Given the description of an element on the screen output the (x, y) to click on. 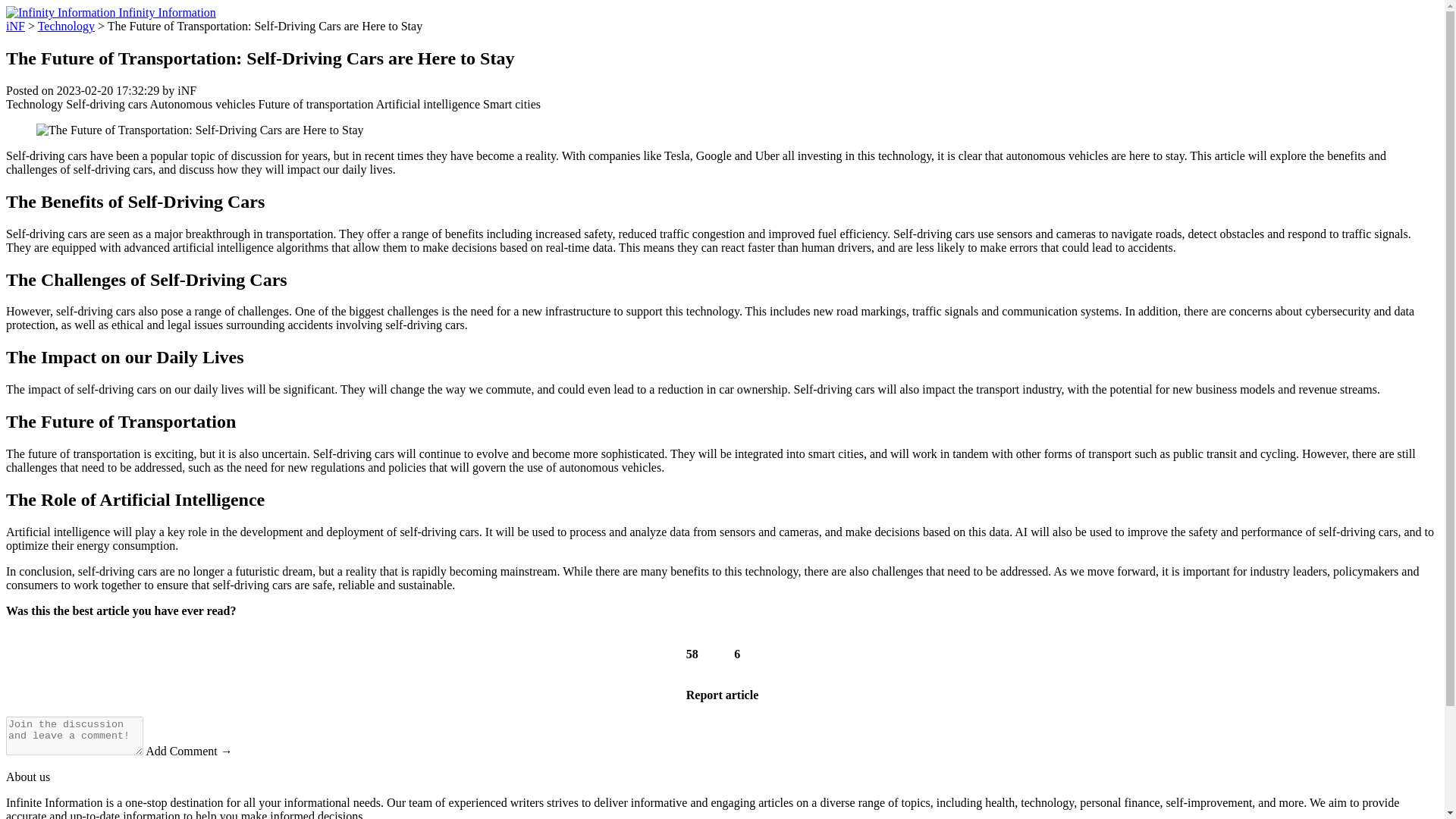
Self-driving cars (106, 103)
Artificial intelligence (427, 103)
Infinity Information (110, 11)
iNF (14, 25)
Future of transportation (316, 103)
Smart cities (511, 103)
Autonomous vehicles (202, 103)
Technology (33, 103)
Technology (65, 25)
